Given the description of an element on the screen output the (x, y) to click on. 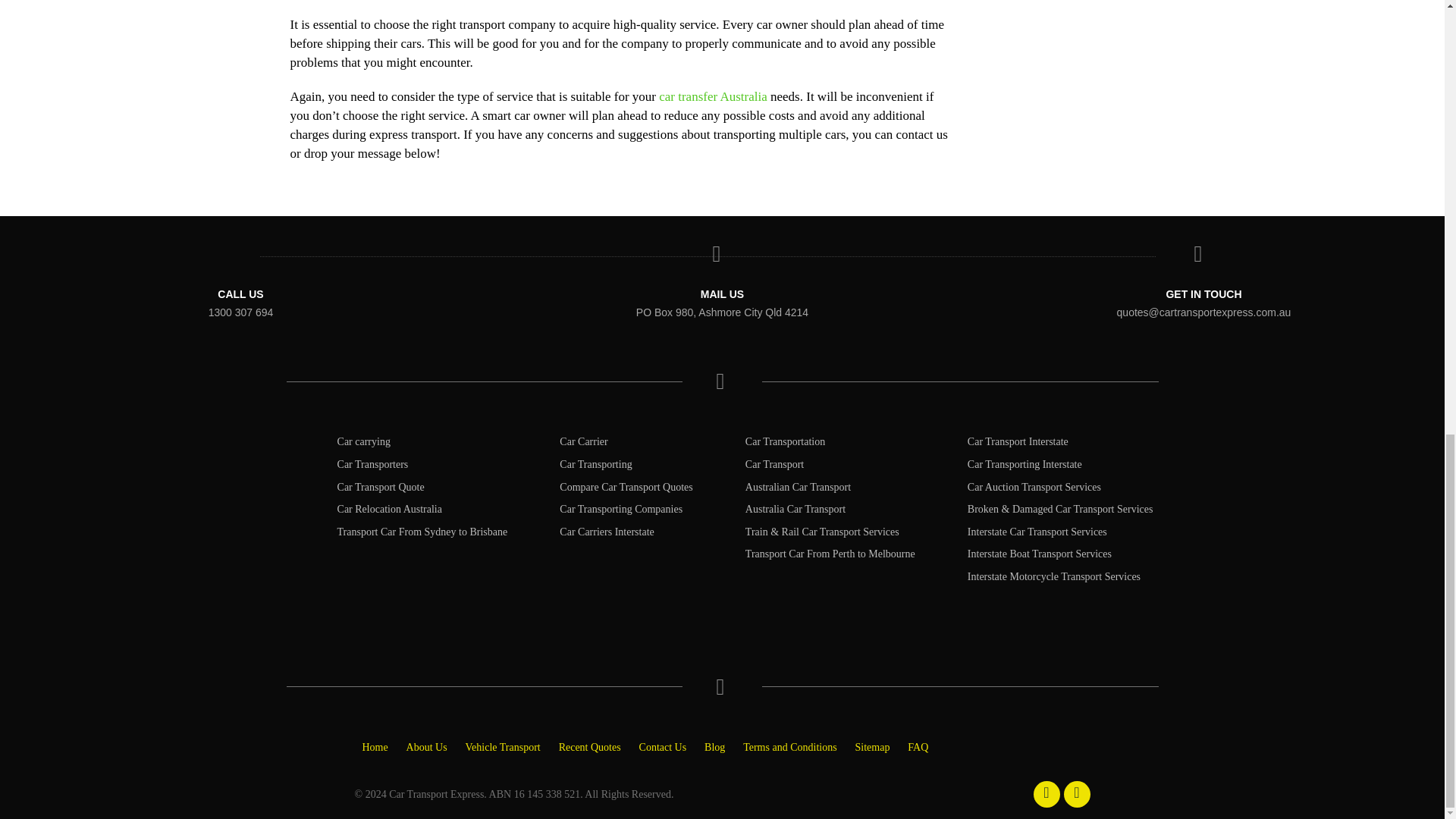
Car Transporting (595, 464)
Australian Car Transport (797, 487)
Compare Car Transport Quotes (626, 487)
Transport Car From Perth to Melbourne (830, 553)
Car carrying (363, 441)
Car Transport (774, 464)
Car Transport Quote (381, 487)
Transport Car From Sydney to Brisbane (422, 531)
Australia Car Transport (795, 509)
Car Transporting Companies (620, 509)
Car Relocation Australia (389, 509)
Car Transportation (785, 441)
Car Transport Interstate (1018, 441)
Car Transporters (373, 464)
Car Carriers Interstate (606, 531)
